Given the description of an element on the screen output the (x, y) to click on. 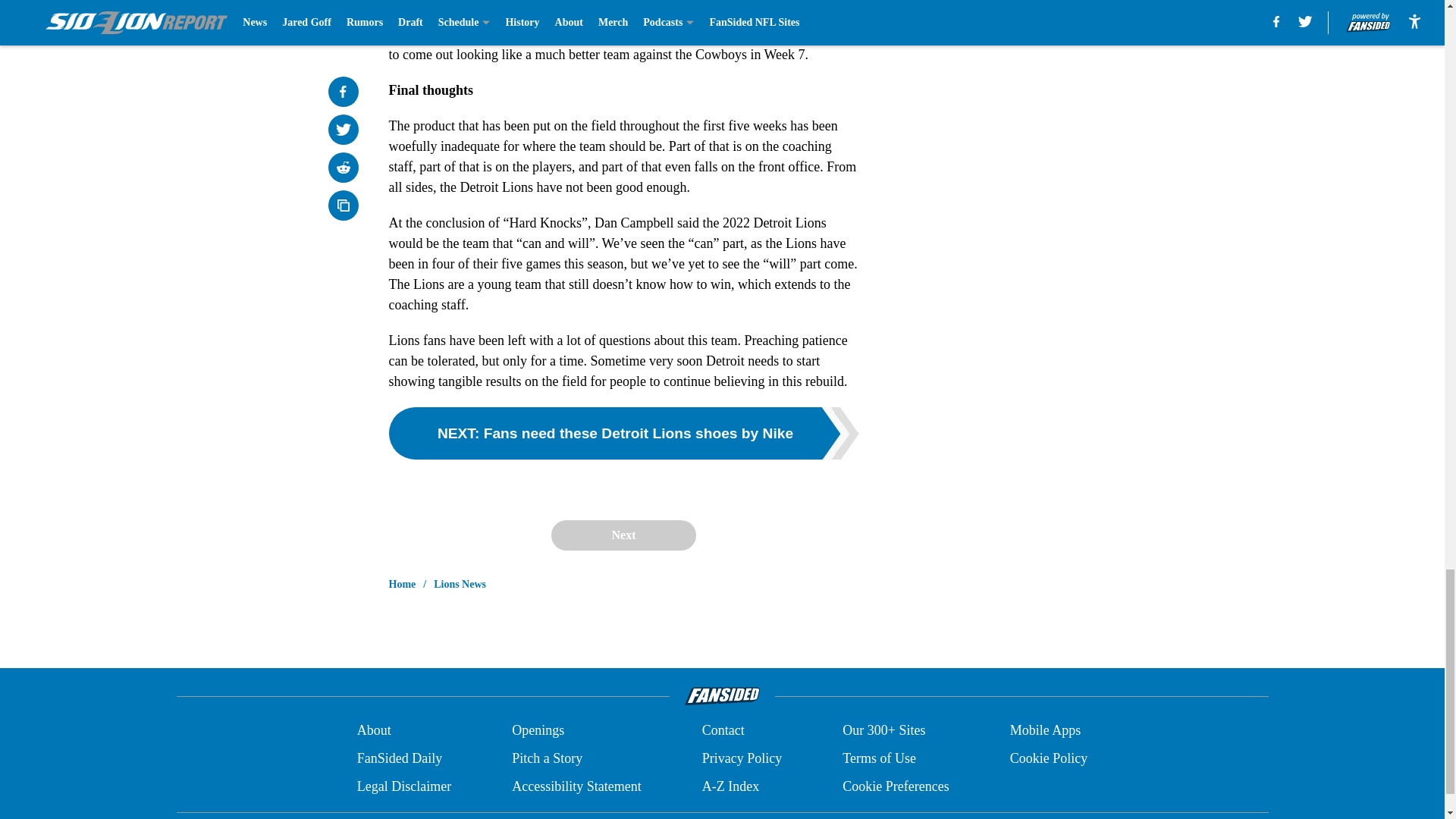
Contact (722, 730)
About (373, 730)
Openings (538, 730)
NEXT: Fans need these Detroit Lions shoes by Nike (623, 433)
Next (622, 535)
Home (401, 584)
Lions News (459, 584)
